Given the description of an element on the screen output the (x, y) to click on. 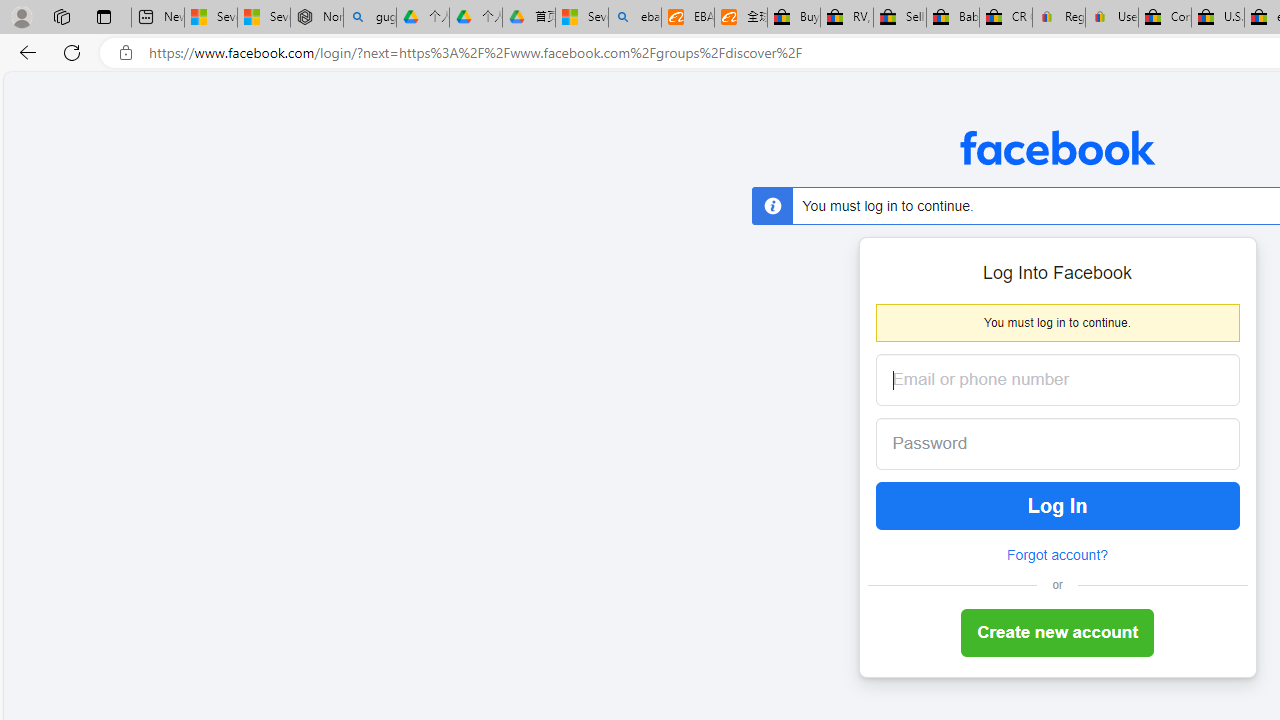
Buy Auto Parts & Accessories | eBay (794, 17)
RV, Trailer & Camper Steps & Ladders for sale | eBay (846, 17)
Forgot account? (1057, 555)
Consumer Health Data Privacy Policy - eBay Inc. (1165, 17)
guge yunpan - Search (369, 17)
Email or phone number (1057, 380)
